Given the description of an element on the screen output the (x, y) to click on. 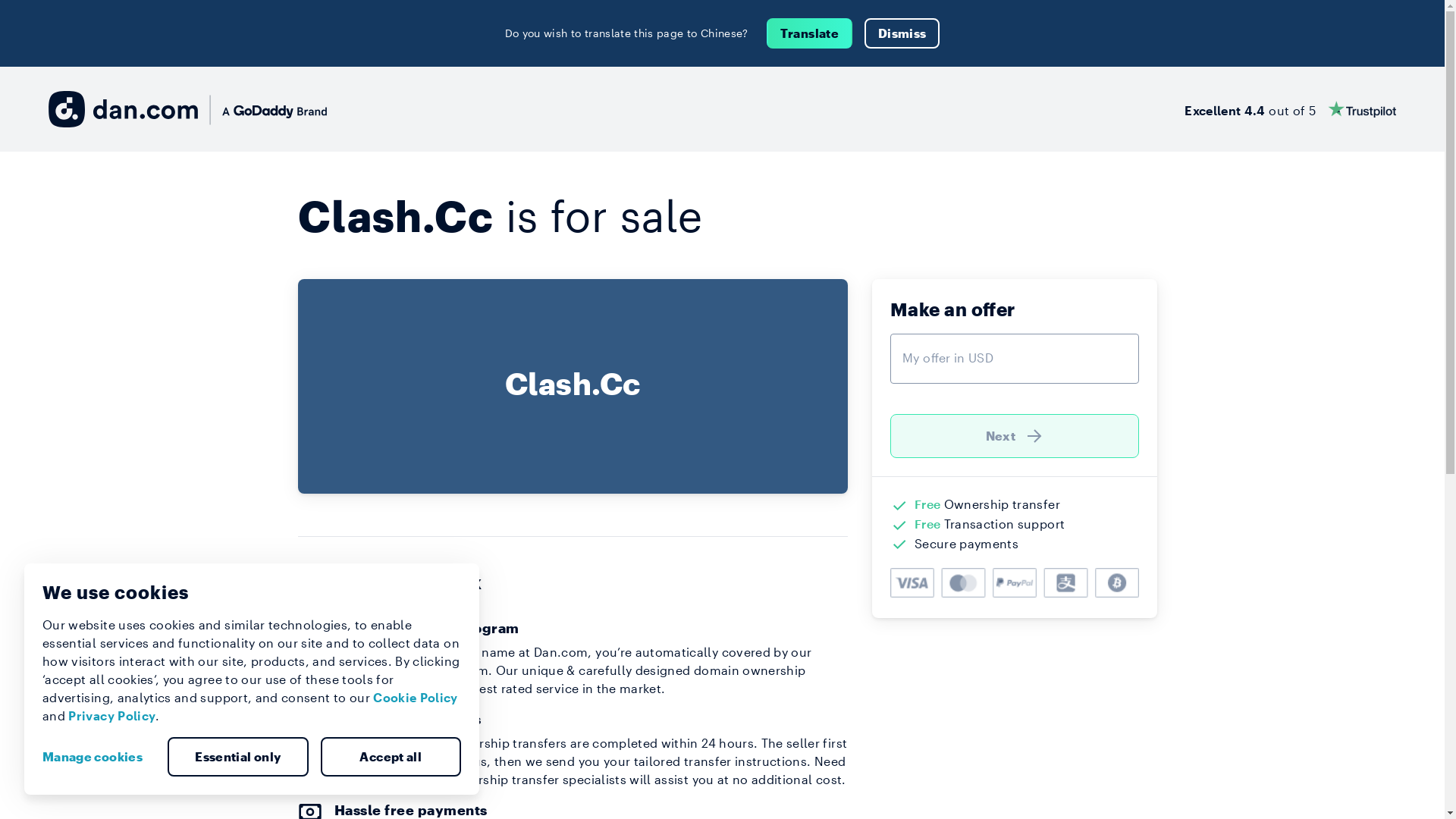
Dismiss Element type: text (901, 33)
Privacy Policy Element type: text (111, 715)
Essential only Element type: text (237, 756)
Next
) Element type: text (1014, 436)
Cookie Policy Element type: text (415, 697)
Manage cookies Element type: text (98, 756)
Accept all Element type: text (390, 756)
Excellent 4.4 out of 5 Element type: text (1290, 109)
Translate Element type: text (809, 33)
